Given the description of an element on the screen output the (x, y) to click on. 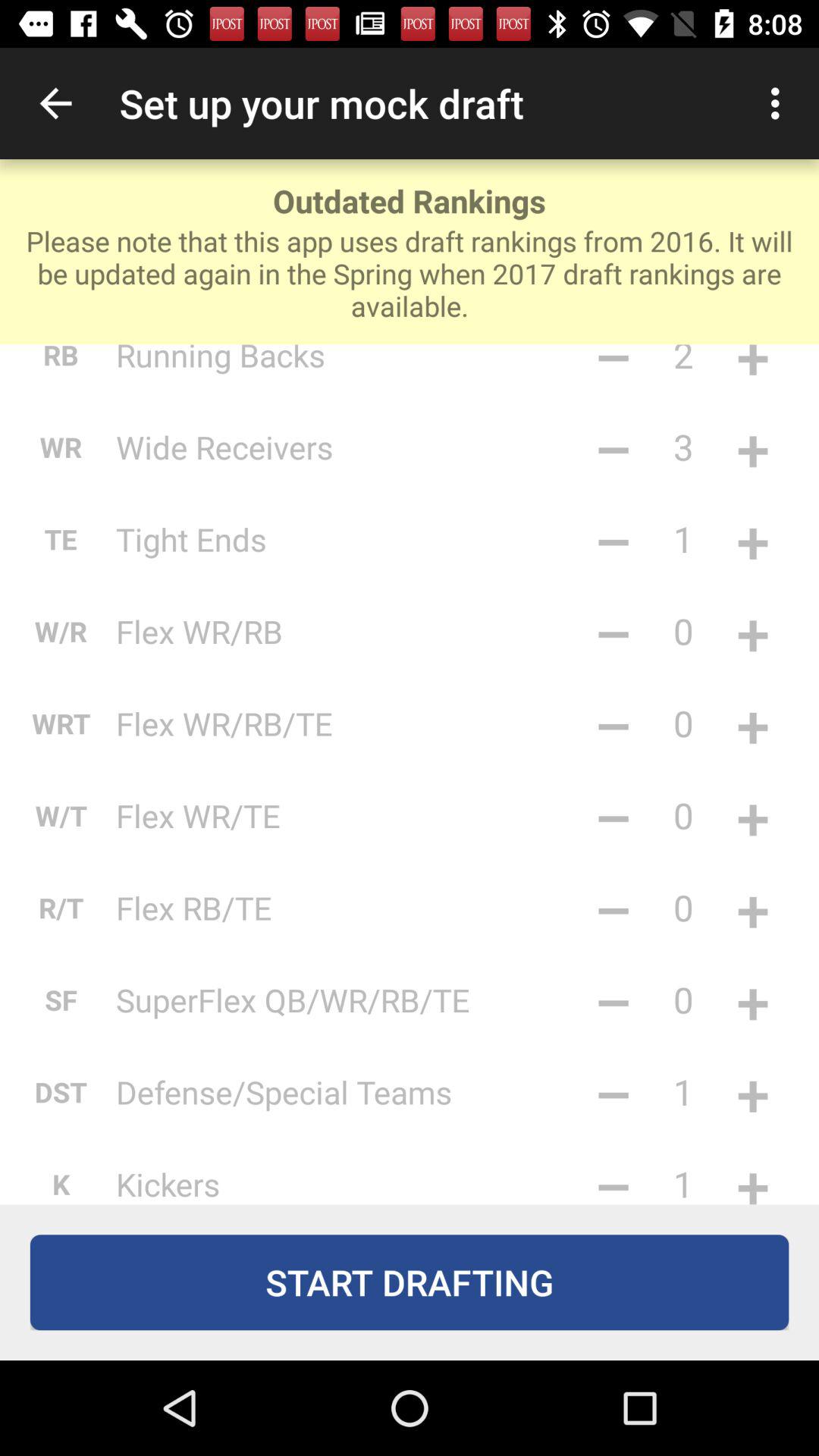
tap item to the left of set up your app (55, 103)
